Given the description of an element on the screen output the (x, y) to click on. 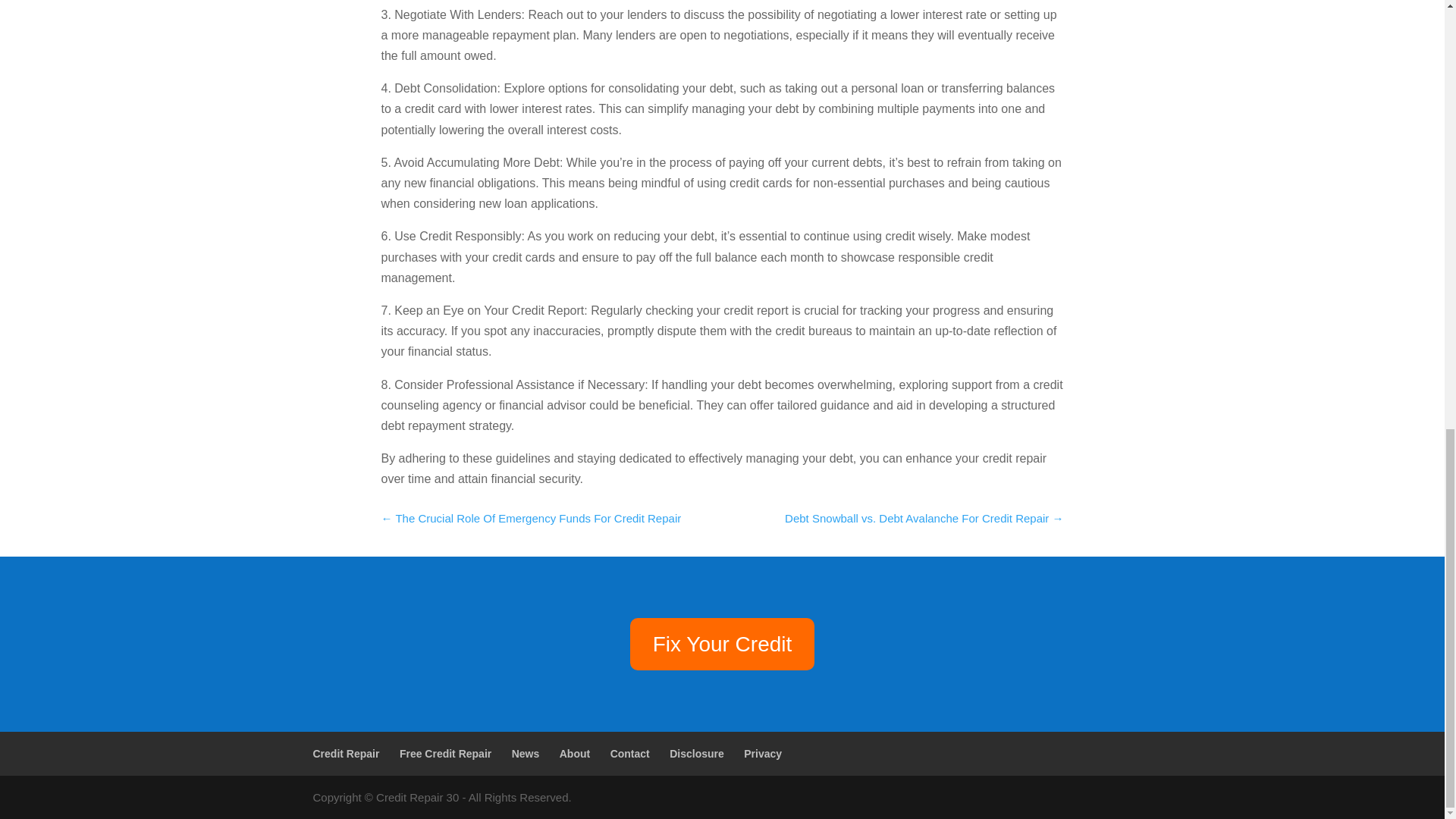
Free Credit Repair (445, 753)
Contact (629, 753)
Credit Repair (345, 753)
About (574, 753)
News (526, 753)
Privacy (762, 753)
Disclosure (696, 753)
Fix Your Credit (722, 643)
